Given the description of an element on the screen output the (x, y) to click on. 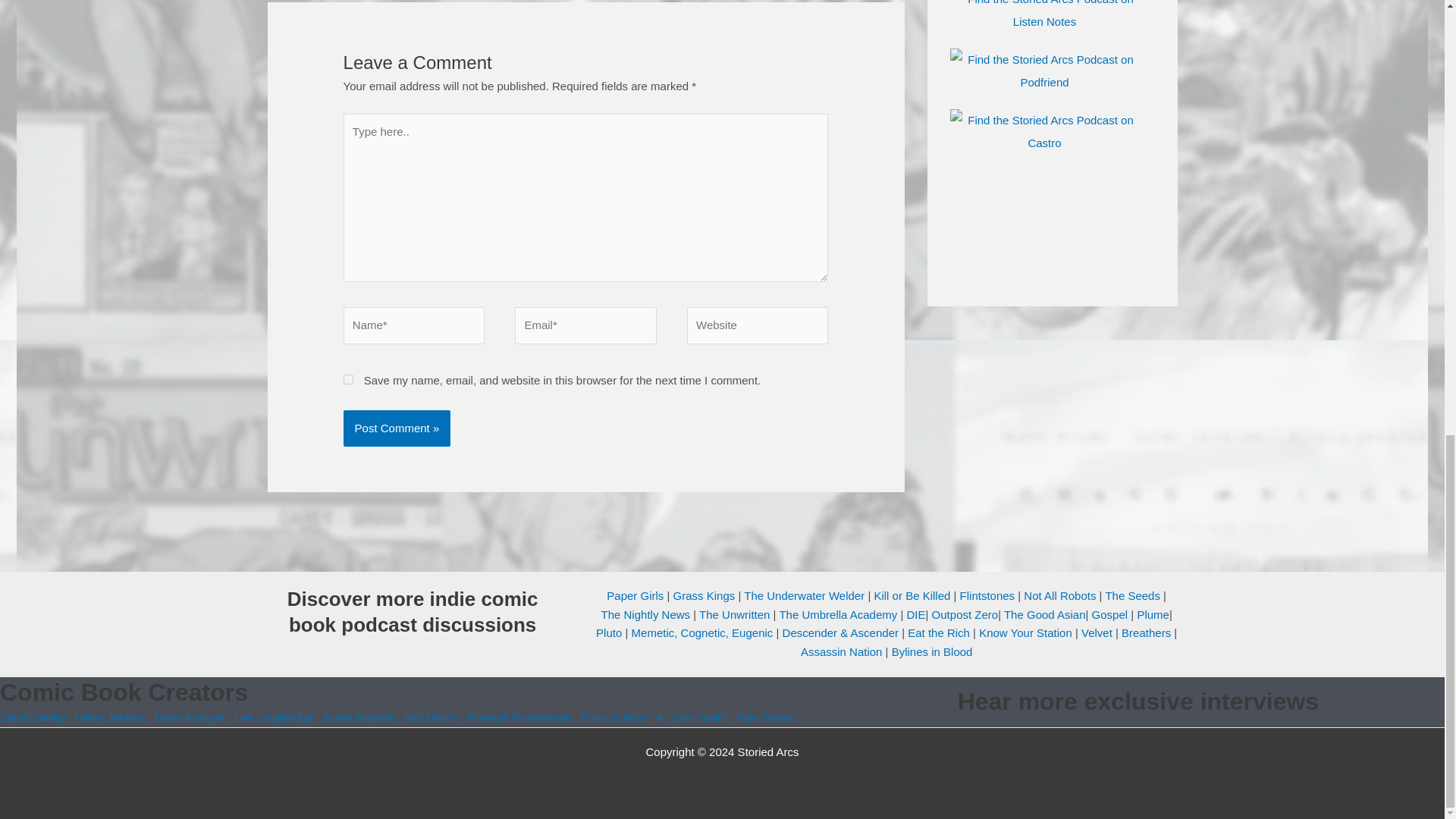
yes (348, 379)
